Given the description of an element on the screen output the (x, y) to click on. 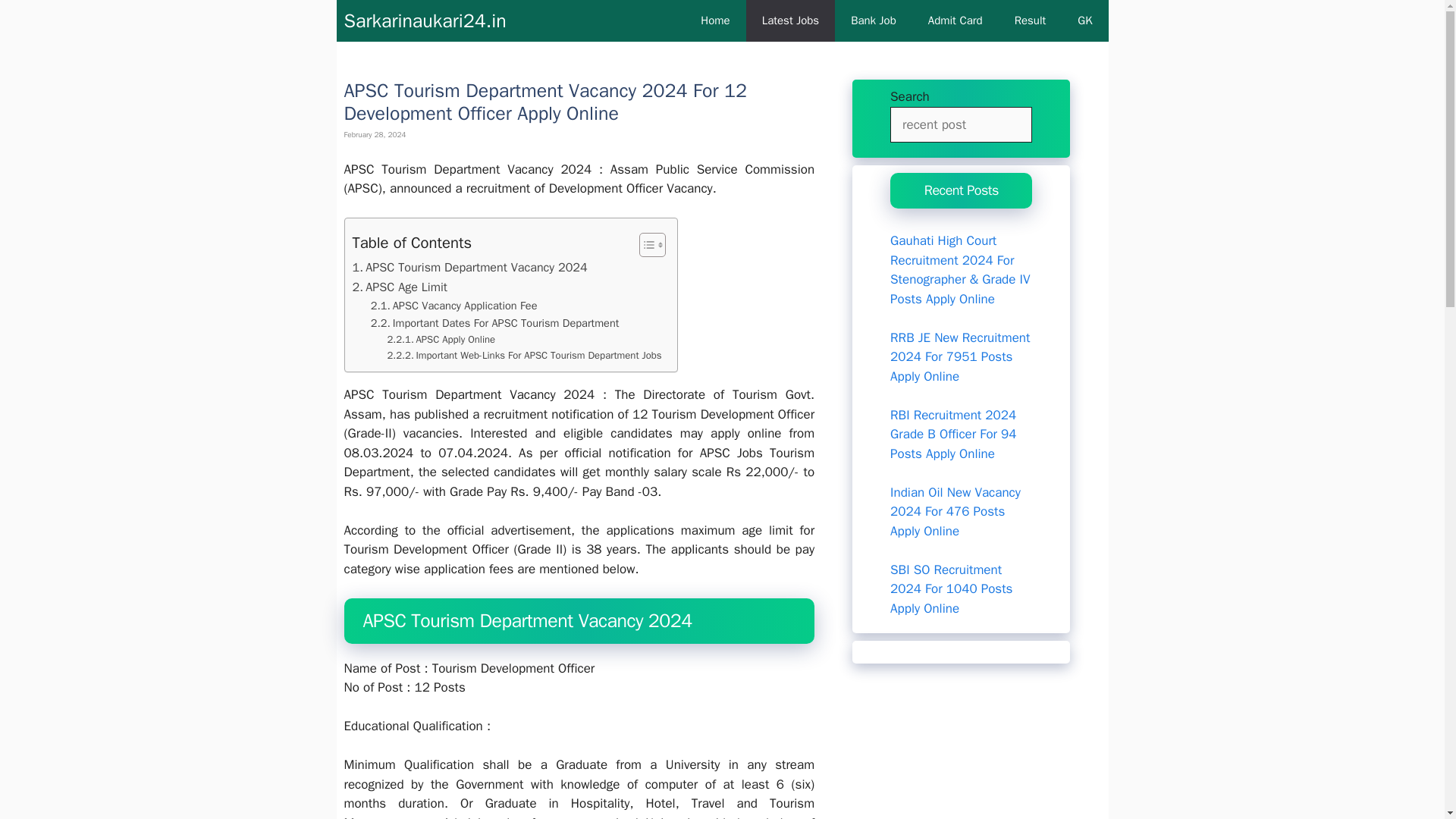
RRB JE New Recruitment 2024 For 7951 Posts Apply Online (959, 356)
APSC Apply Online (441, 340)
Result (1030, 20)
Indian Oil New Vacancy 2024 For 476 Posts Apply Online (954, 511)
APSC Tourism Department Vacancy 2024 (469, 267)
APSC Age Limit (399, 287)
Sarkarinaukari24.in (424, 20)
APSC Age Limit (399, 287)
APSC Tourism Department Vacancy 2024 (469, 267)
Important Web-Links For APSC Tourism Department Jobs (524, 355)
